Given the description of an element on the screen output the (x, y) to click on. 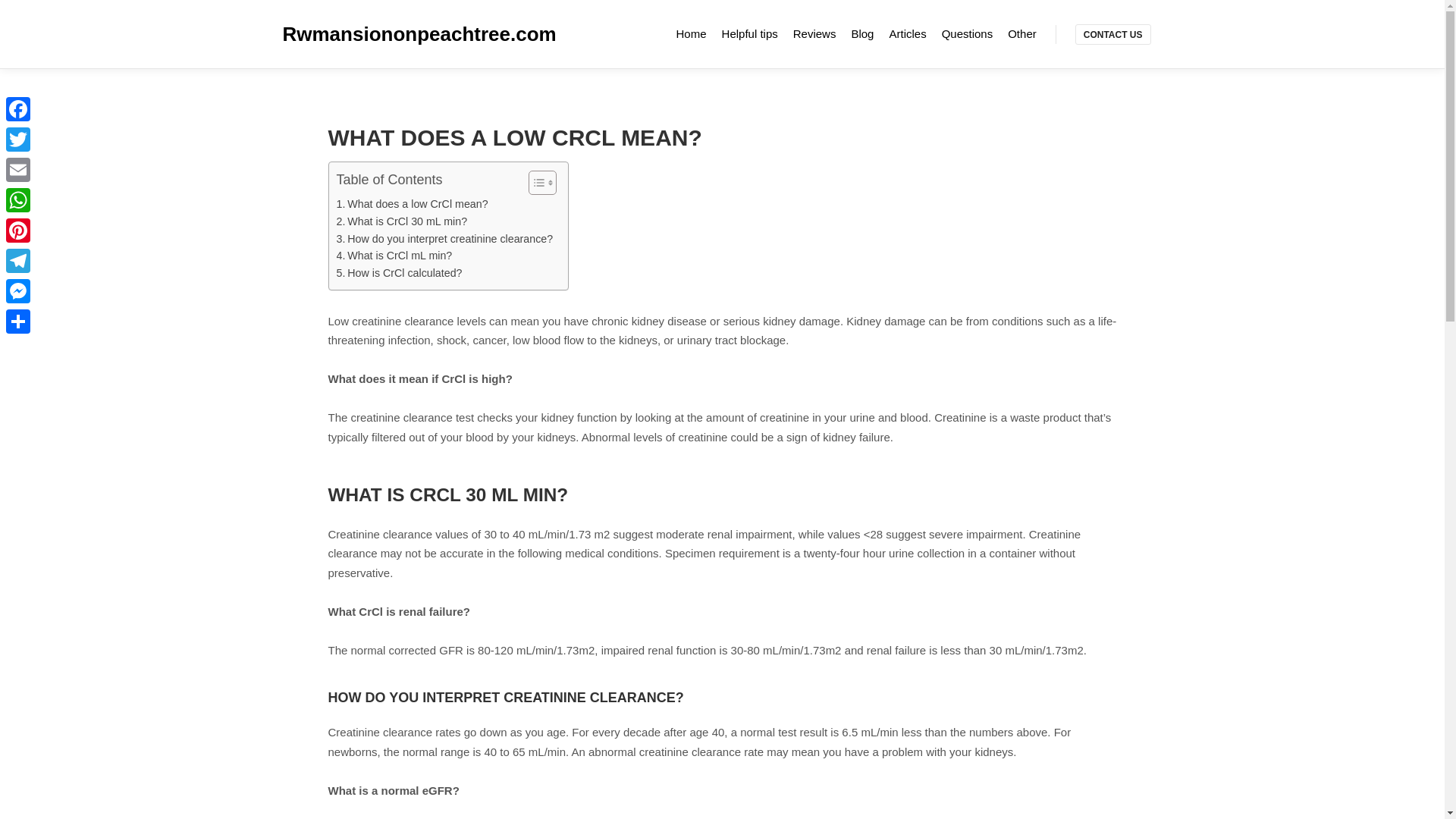
CONTACT US (1113, 34)
Helpful tips (750, 33)
Rwmansiononpeachtree.com (357, 33)
Pinterest (17, 230)
What is CrCl 30 mL min? (401, 221)
What is CrCl 30 mL min? (401, 221)
How do you interpret creatinine clearance? (444, 239)
Facebook (17, 109)
Questions (967, 33)
Rwmansiononpeachtree.com (357, 33)
Facebook (17, 109)
Twitter (17, 139)
Telegram (17, 260)
What is CrCl mL min? (394, 255)
WhatsApp (17, 200)
